Given the description of an element on the screen output the (x, y) to click on. 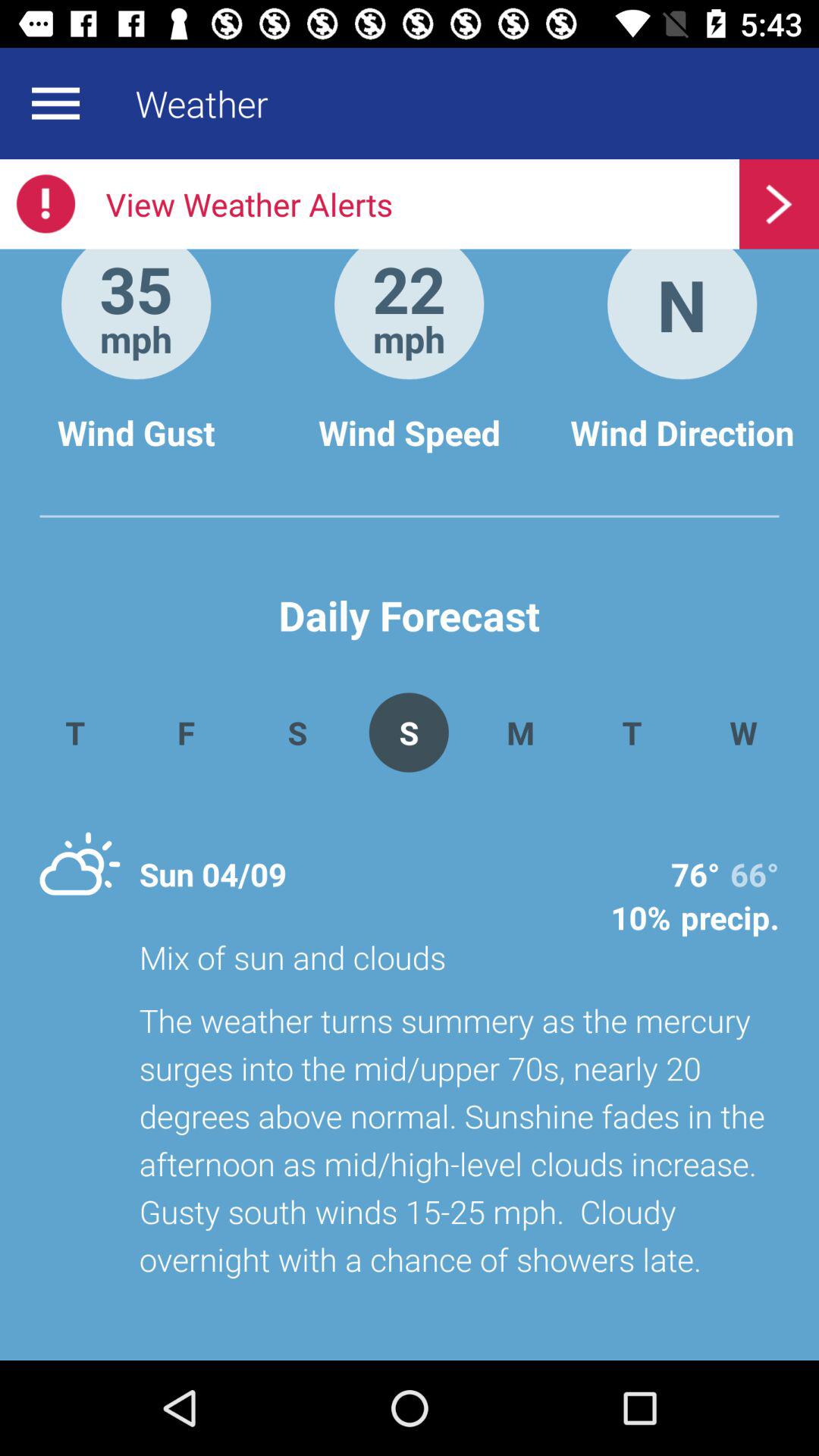
turn off the app above mix of sun icon (520, 732)
